Given the description of an element on the screen output the (x, y) to click on. 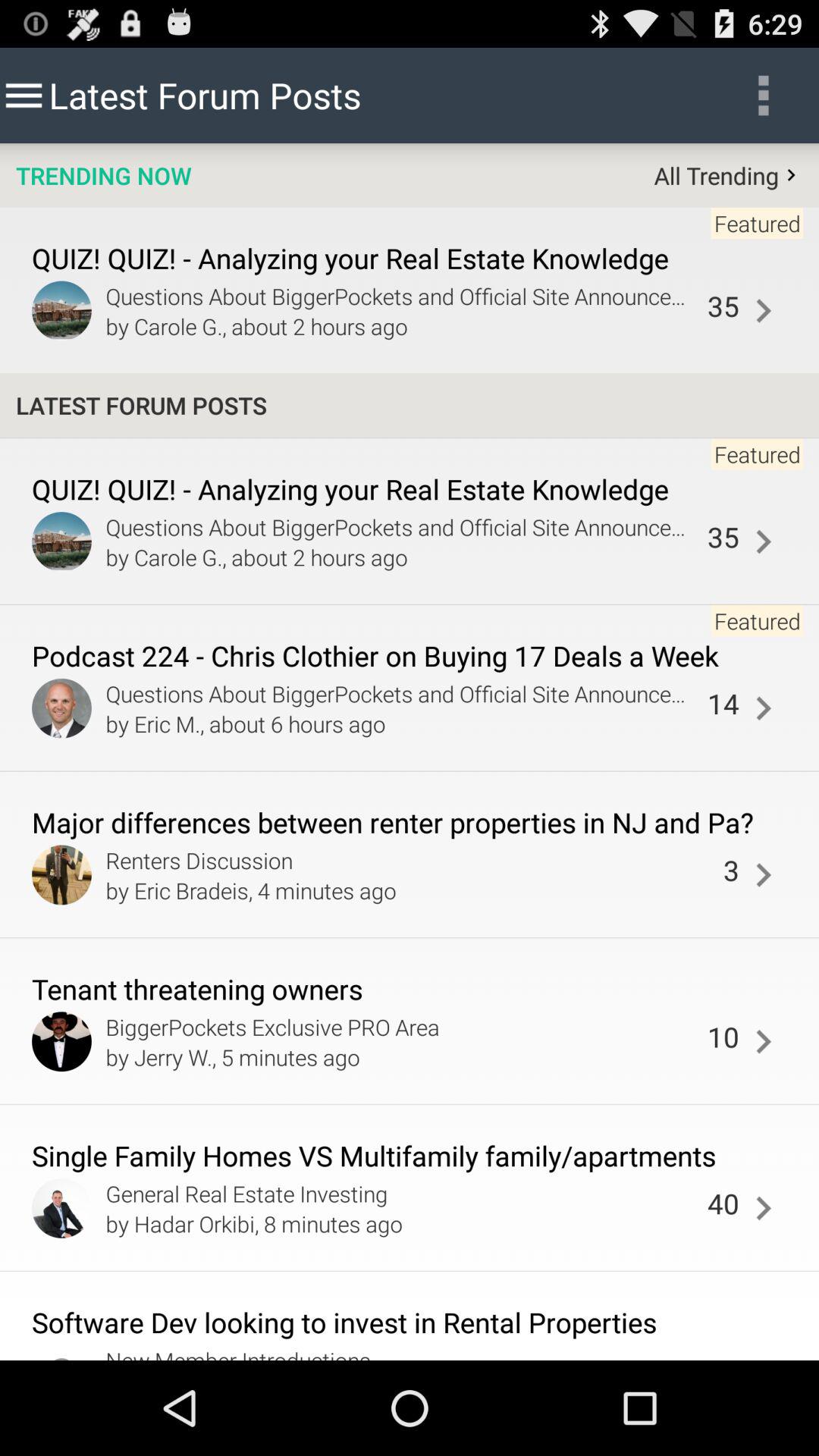
click app next to 14 app (763, 708)
